Given the description of an element on the screen output the (x, y) to click on. 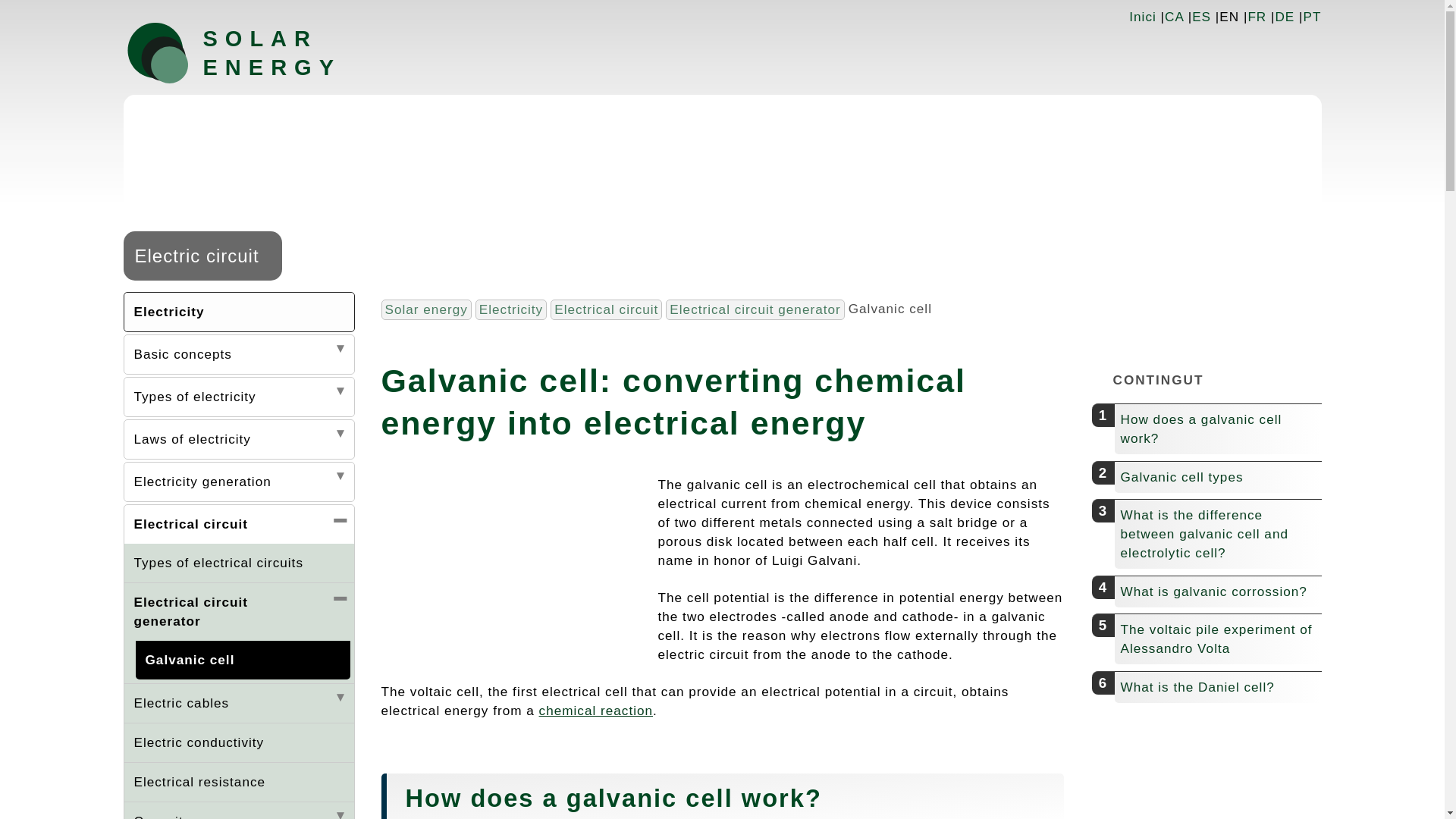
Inici (1142, 16)
ES (1201, 16)
Electricity (238, 311)
SOLAR ENERGY (282, 51)
Basic concepts (238, 353)
CA (1173, 16)
FR (1256, 16)
PT (1312, 16)
DE (1284, 16)
